Given the description of an element on the screen output the (x, y) to click on. 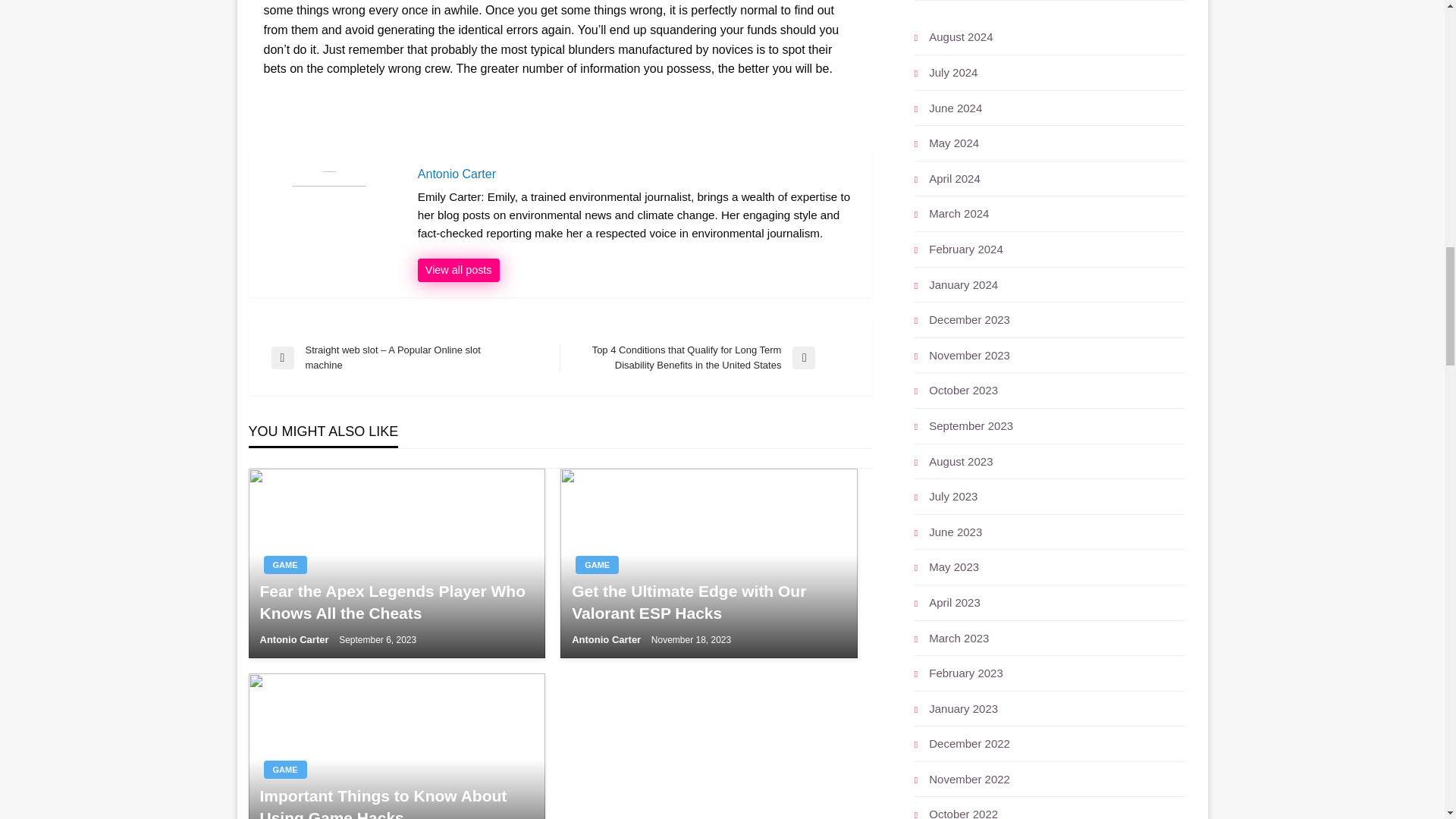
Antonio Carter (637, 174)
Antonio Carter (637, 174)
View all posts (458, 270)
GAME (596, 565)
Important Things to Know About Using Game Hacks (396, 801)
GAME (285, 565)
GAME (285, 769)
Antonio Carter (607, 639)
Antonio Carter (295, 639)
Antonio Carter (458, 270)
